Given the description of an element on the screen output the (x, y) to click on. 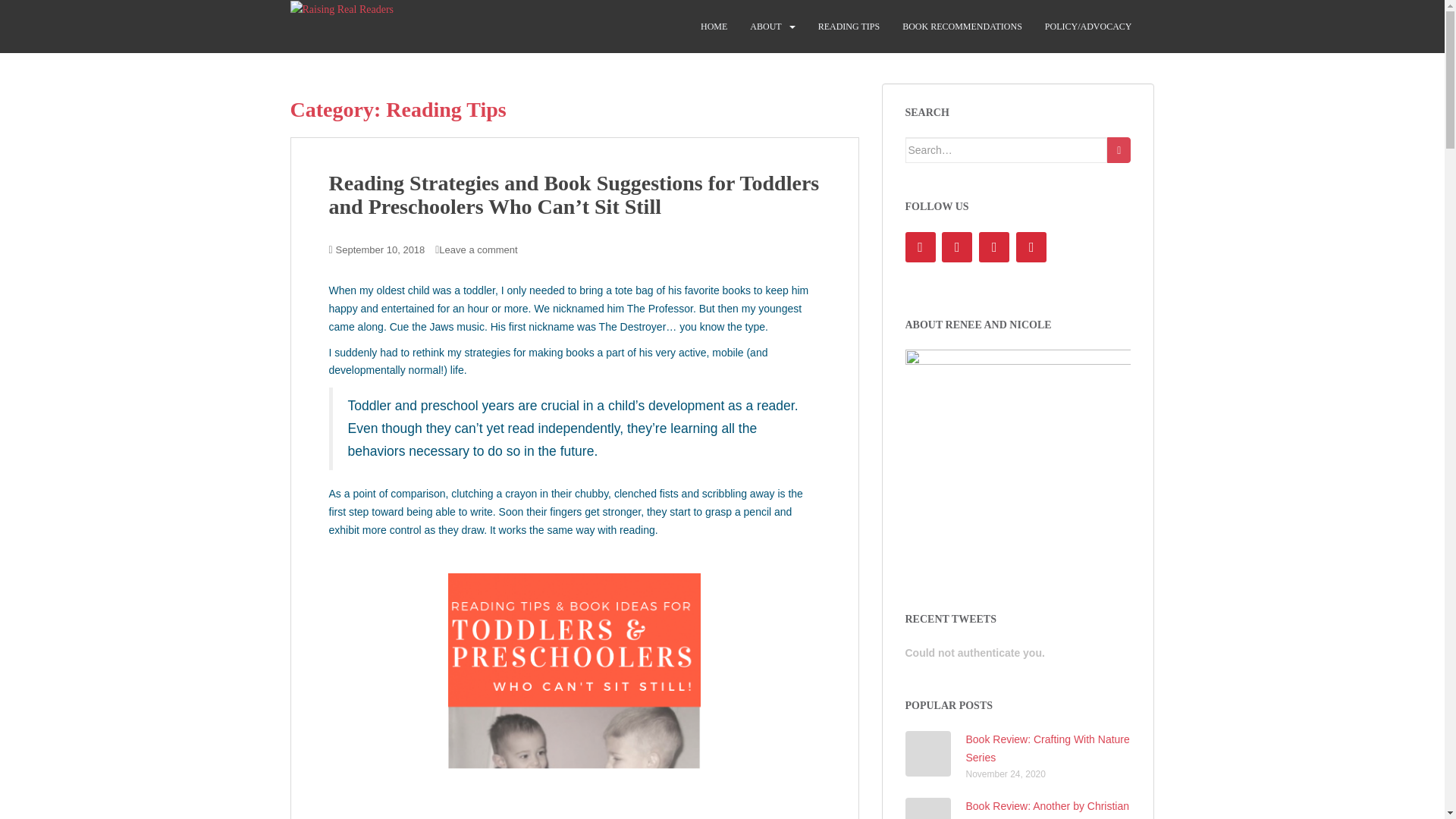
ABOUT (764, 26)
September 10, 2018 (380, 249)
Leave a comment (477, 249)
Search for: (1006, 149)
READING TIPS (848, 26)
BOOK RECOMMENDATIONS (962, 26)
